Given the description of an element on the screen output the (x, y) to click on. 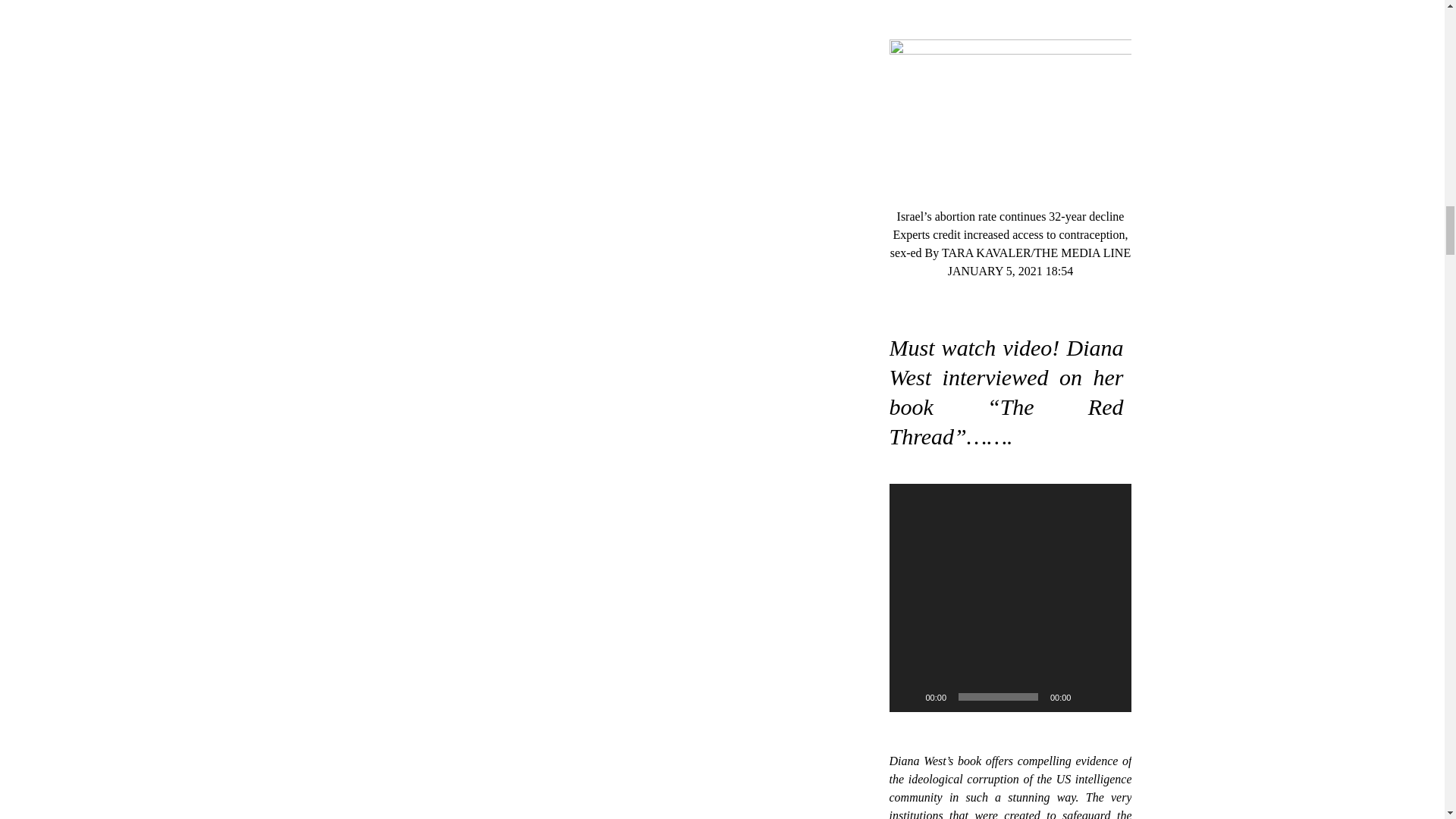
Fullscreen (1111, 696)
Play (908, 696)
Mute (1087, 696)
